Given the description of an element on the screen output the (x, y) to click on. 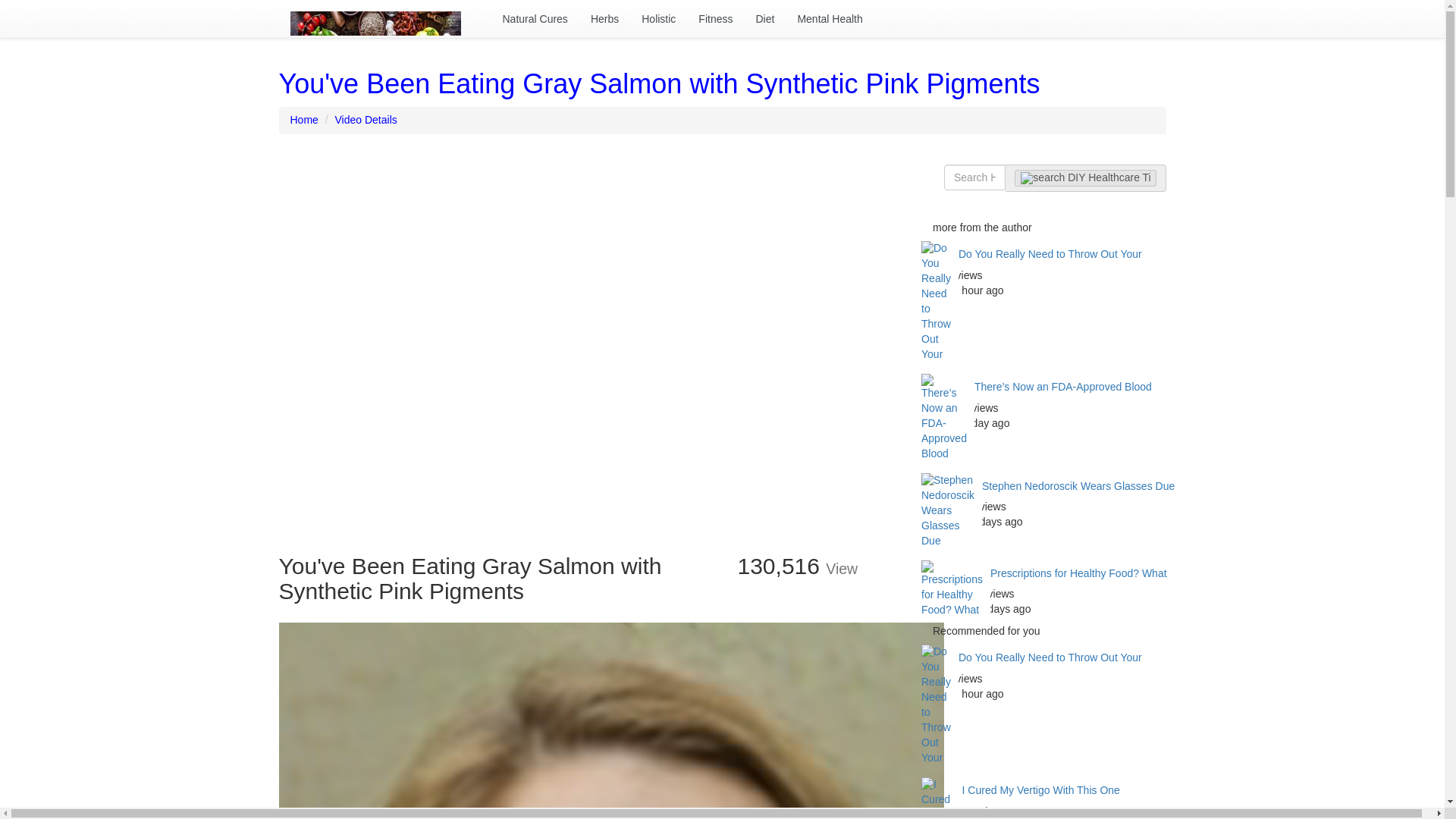
Diet (765, 18)
Herbs (604, 18)
Home (303, 119)
Fitness (715, 18)
Natural Cures (535, 18)
Holistic (658, 18)
Mental Health (829, 18)
